Given the description of an element on the screen output the (x, y) to click on. 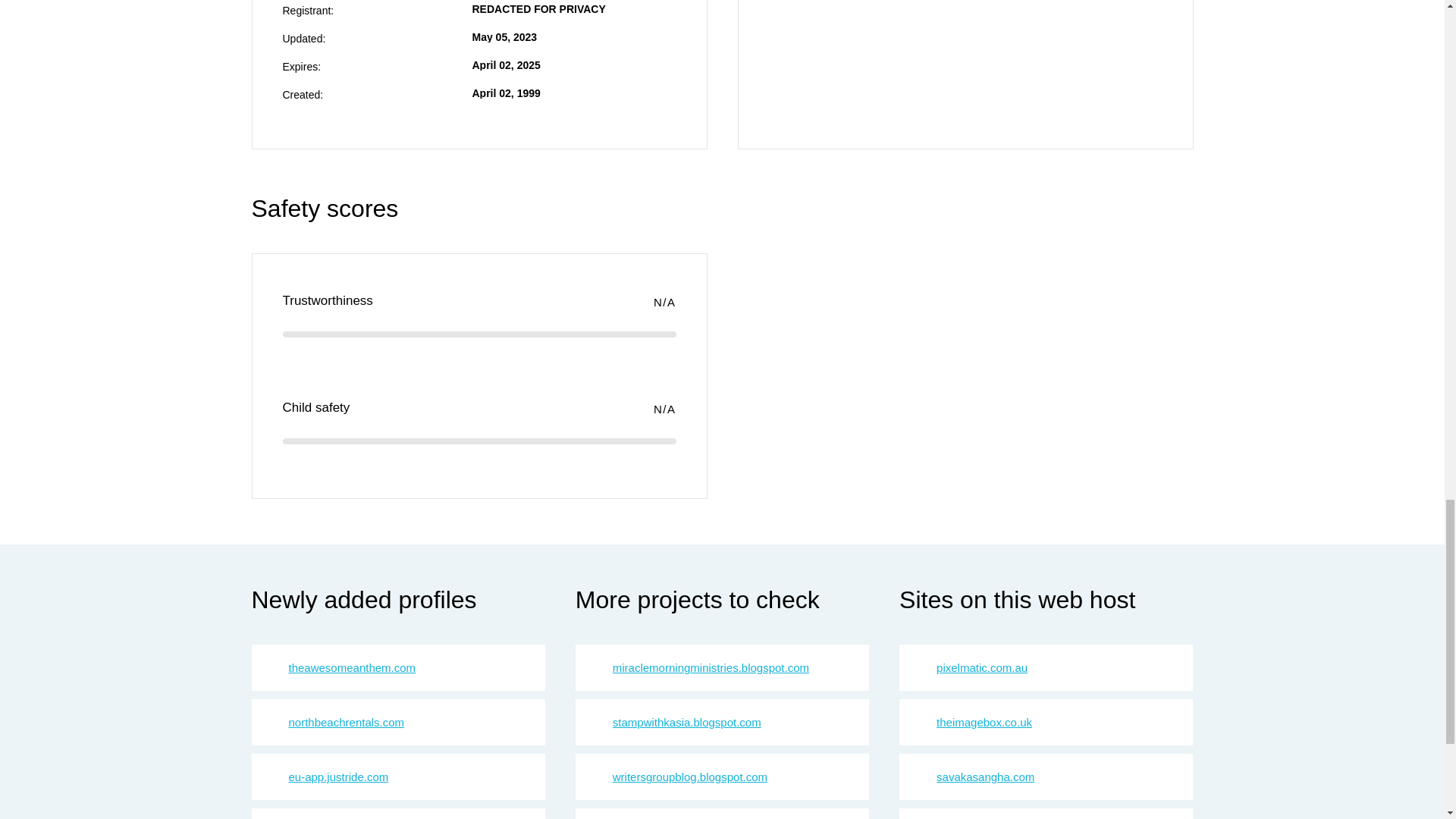
eu-app.justride.com (338, 776)
theimagebox.co.uk (984, 721)
theawesomeanthem.com (351, 667)
stampwithkasia.blogspot.com (686, 721)
savakasangha.com (984, 776)
writersgroupblog.blogspot.com (689, 776)
northbeachrentals.com (346, 721)
miraclemorningministries.blogspot.com (710, 667)
pixelmatic.com.au (981, 667)
